Given the description of an element on the screen output the (x, y) to click on. 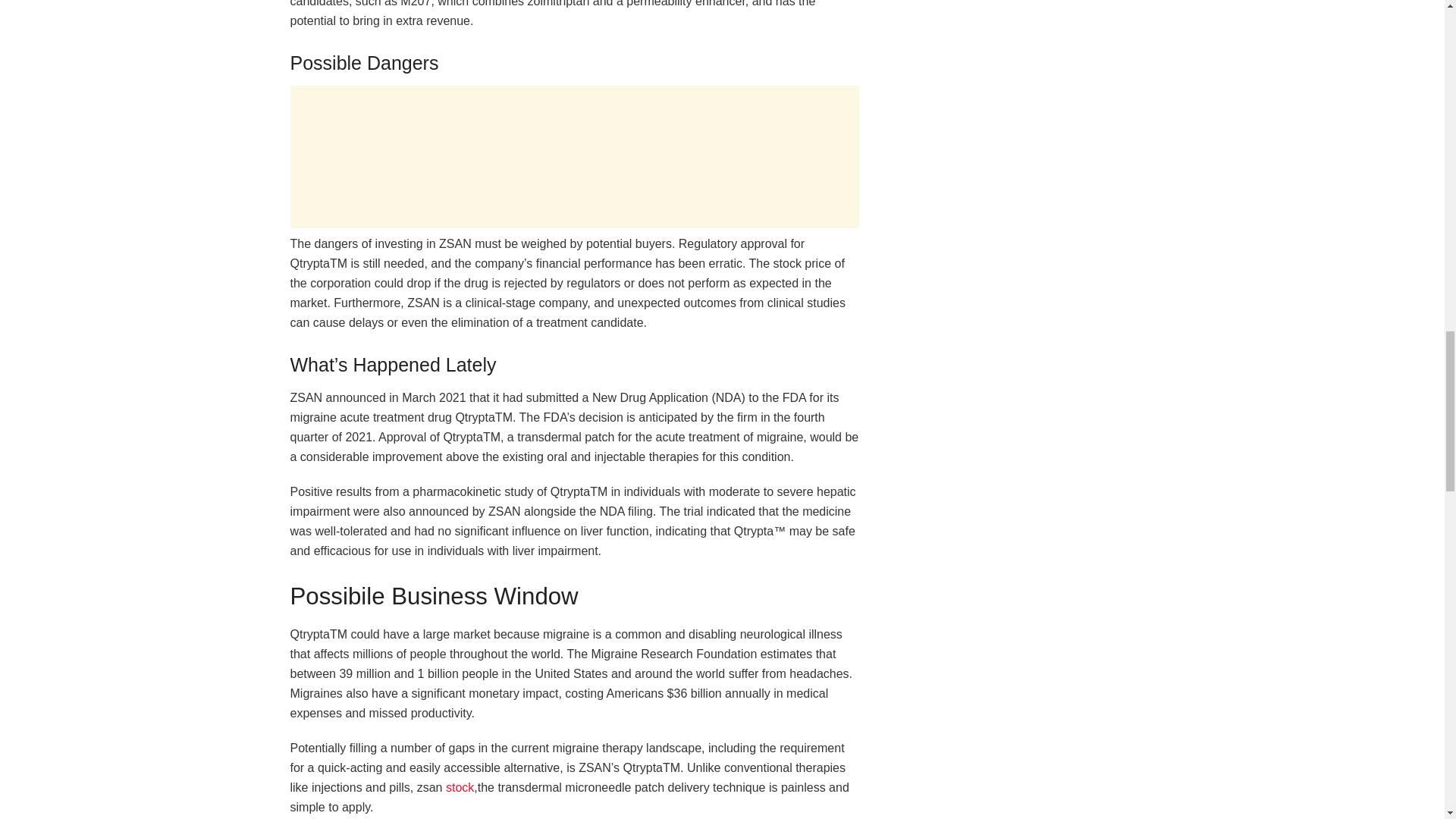
Advertisement (574, 156)
